Given the description of an element on the screen output the (x, y) to click on. 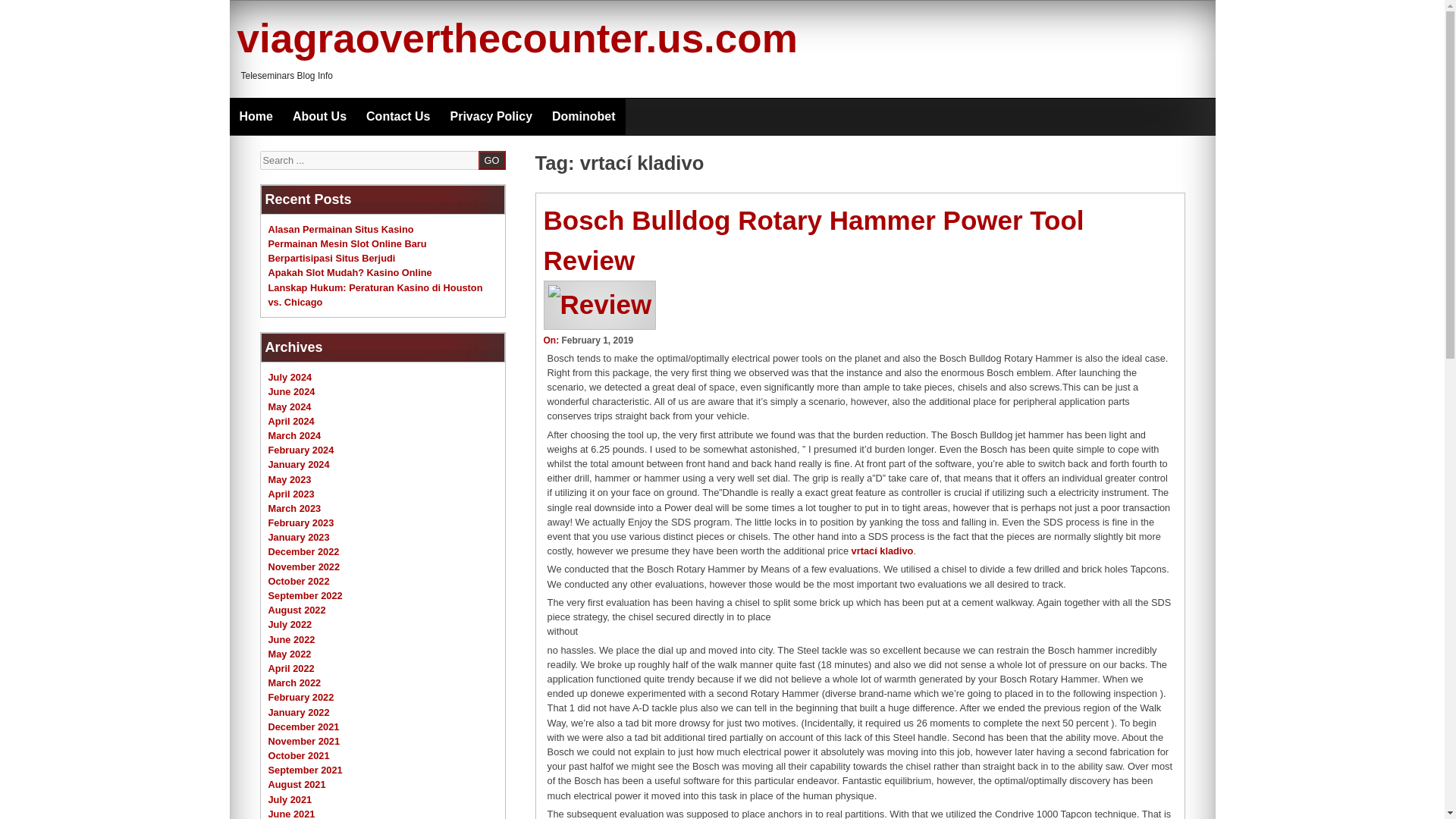
March 2024 (294, 435)
November 2022 (303, 566)
Contact Us (397, 116)
January 2024 (298, 464)
April 2023 (290, 493)
May 2024 (289, 406)
Berpartisipasi Situs Berjudi (331, 257)
June 2022 (291, 639)
September 2022 (304, 595)
April 2024 (290, 420)
Privacy Policy (492, 116)
February 2024 (300, 449)
December 2022 (303, 551)
GO (492, 158)
Permainan Mesin Slot Online Baru (346, 243)
